Given the description of an element on the screen output the (x, y) to click on. 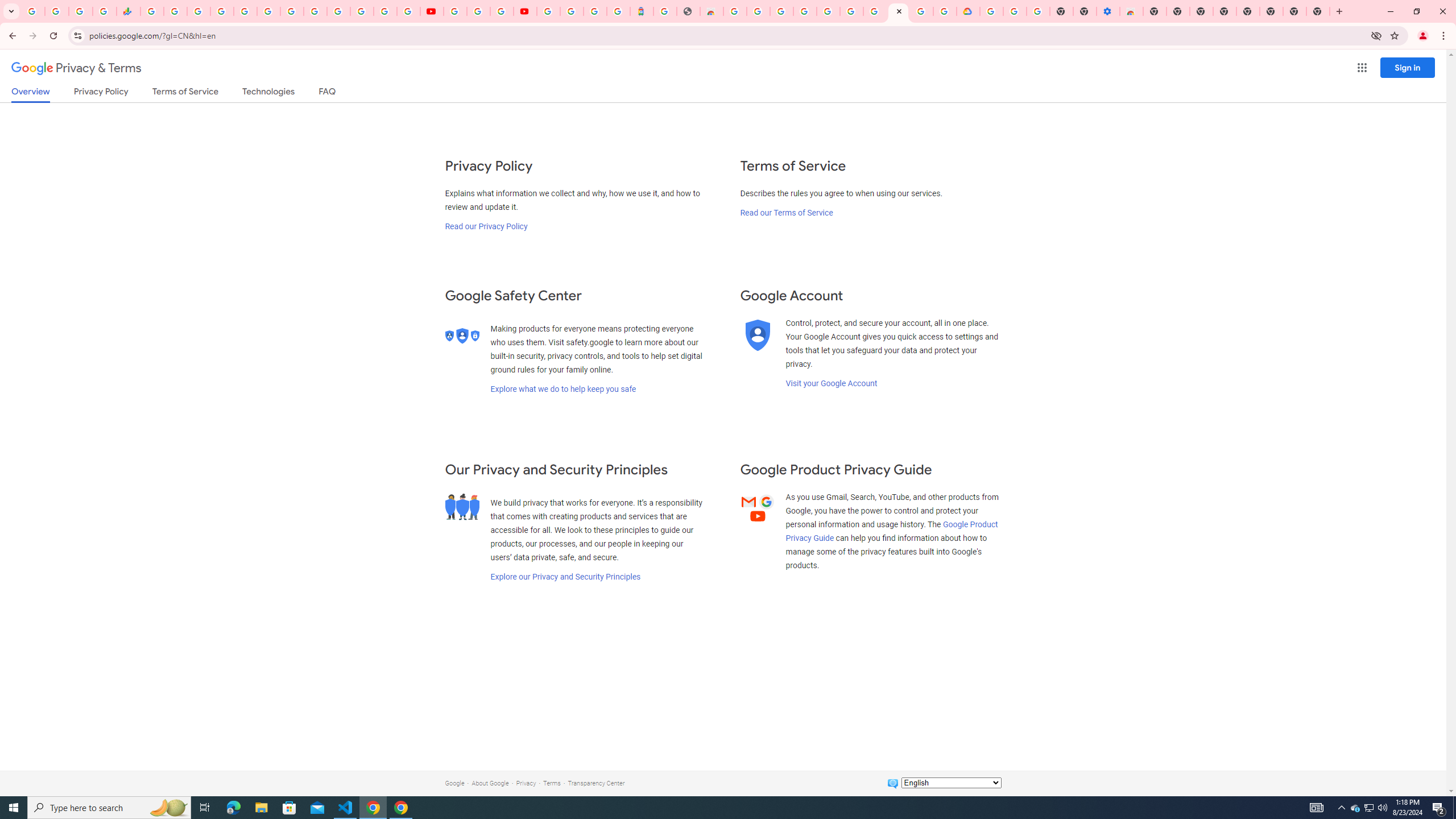
Sign in - Google Accounts (384, 11)
YouTube (314, 11)
Browse the Google Chrome Community - Google Chrome Community (945, 11)
Android TV Policies and Guidelines - Transparency Center (291, 11)
